Given the description of an element on the screen output the (x, y) to click on. 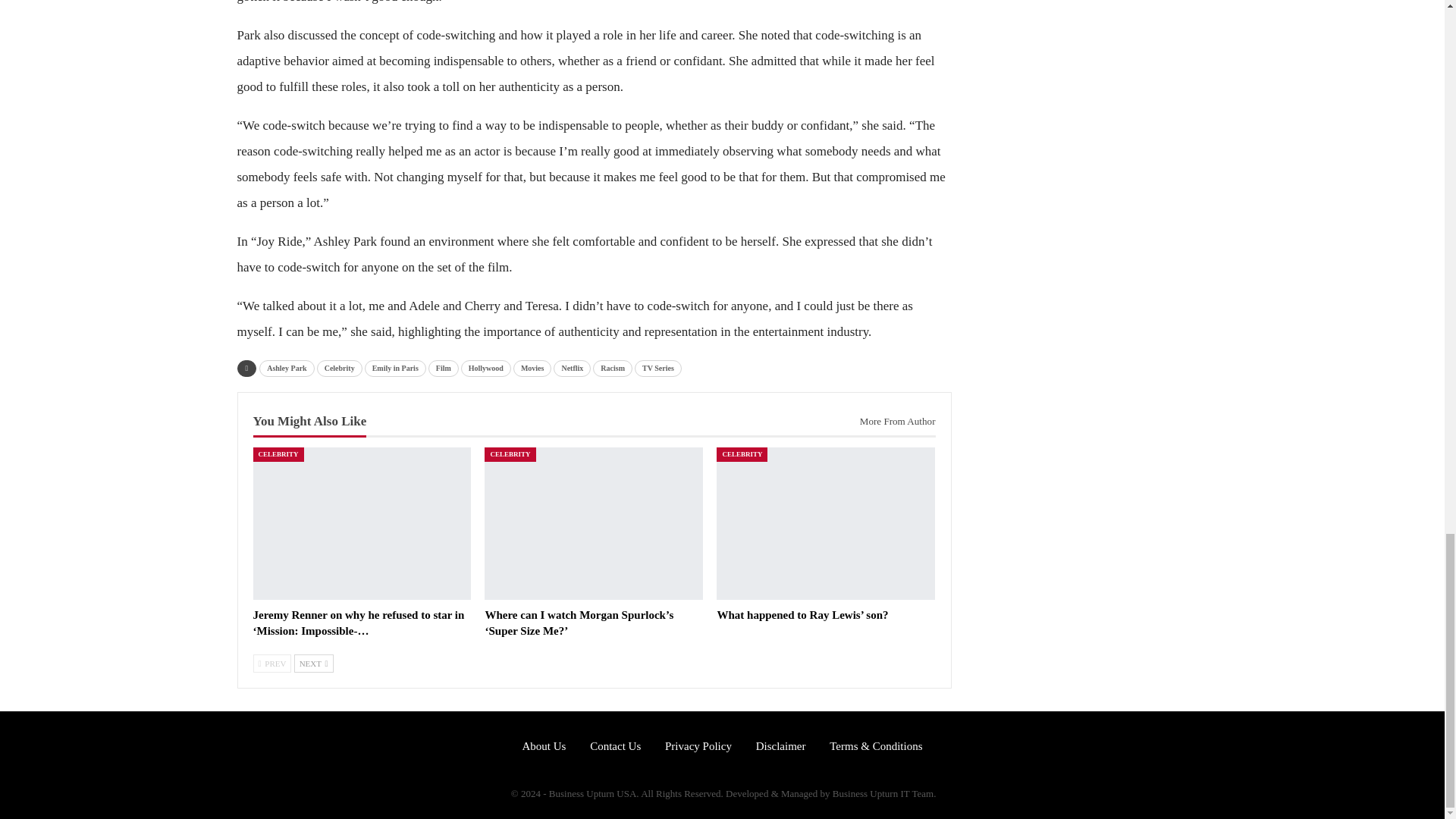
Next (313, 663)
Previous (272, 663)
